Given the description of an element on the screen output the (x, y) to click on. 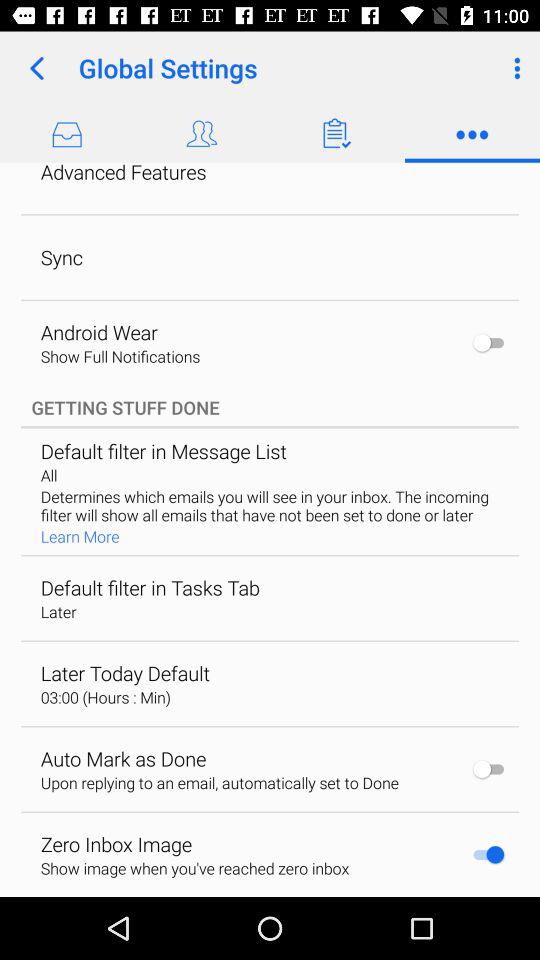
scroll to upon replying to app (219, 782)
